Given the description of an element on the screen output the (x, y) to click on. 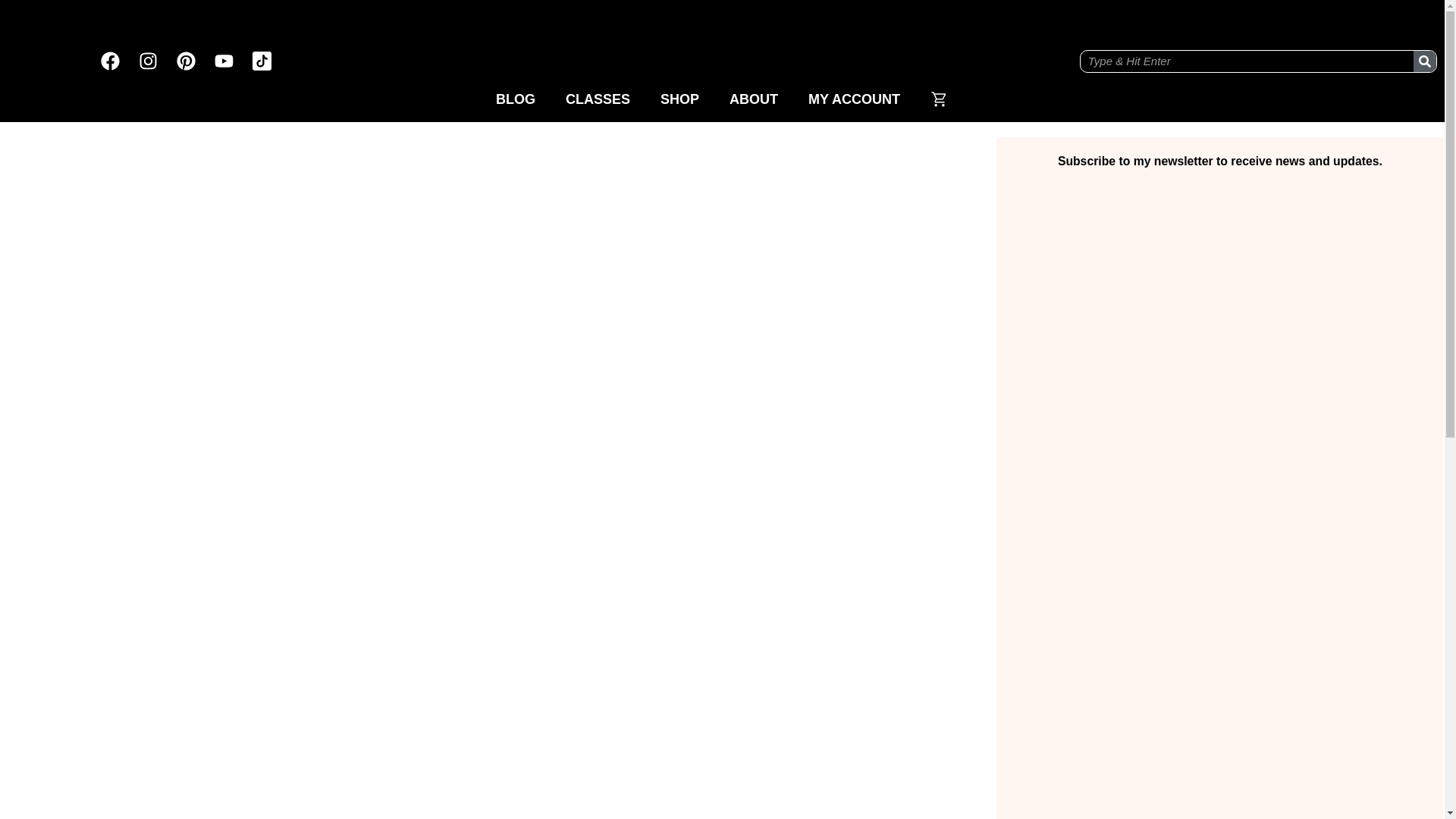
BLOG (515, 98)
shawnmosch (722, 42)
MY ACCOUNT (854, 98)
ABOUT (753, 98)
SHOP (679, 98)
CLASSES (597, 98)
